Given the description of an element on the screen output the (x, y) to click on. 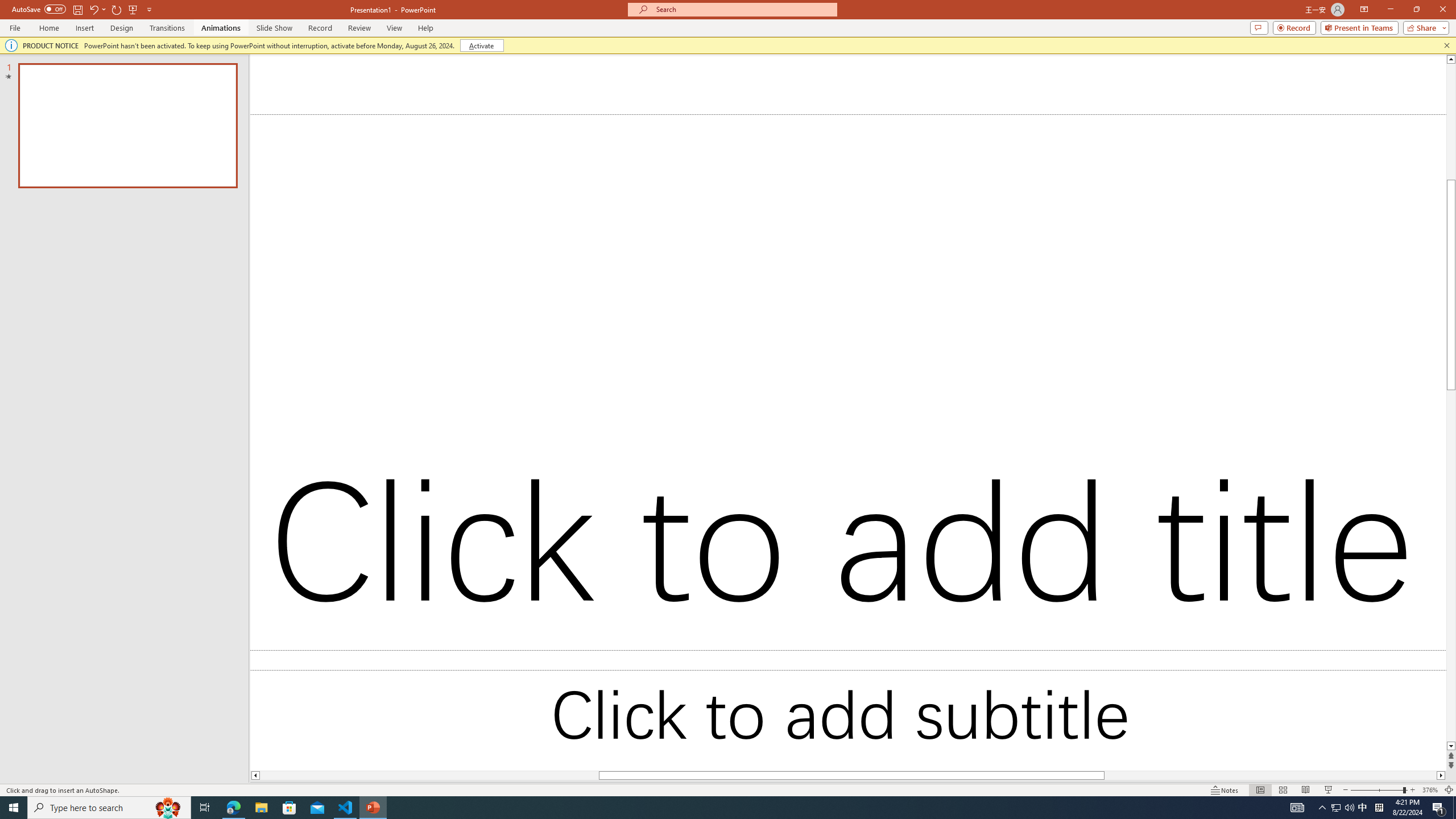
Superscript (221, 102)
Styles (1025, 107)
Format Painter (63, 112)
Text Effects and Typography (252, 102)
Font Color RGB(255, 0, 0) (317, 102)
Page 1 content (634, 474)
Select (1080, 112)
Shading (565, 102)
566ba9ff-a5b0-4b6f-bbdf-c3ab41993fc2 (1369, 194)
Can't Repeat (193, 18)
